Given the description of an element on the screen output the (x, y) to click on. 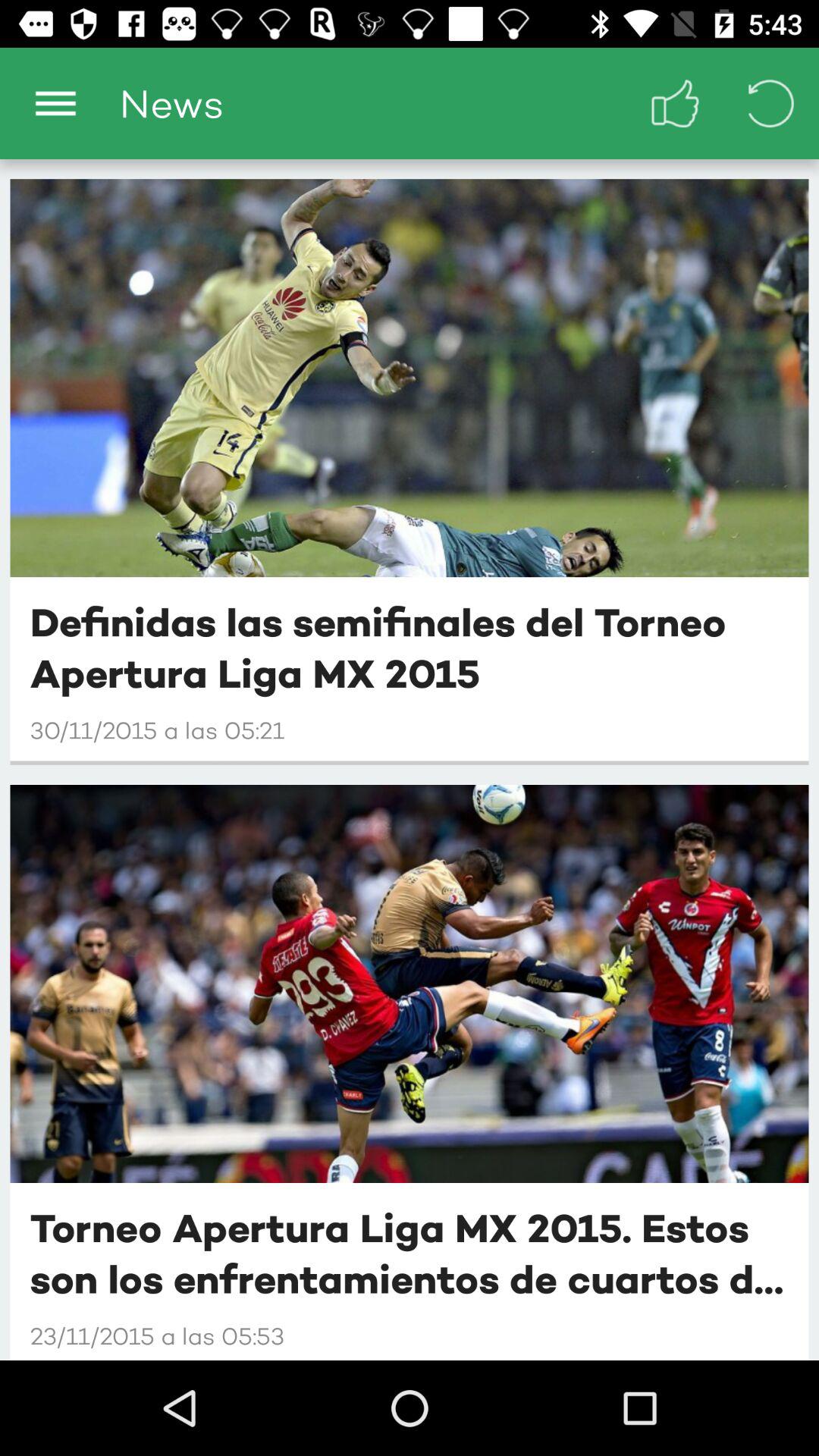
open icon next to news item (55, 103)
